Given the description of an element on the screen output the (x, y) to click on. 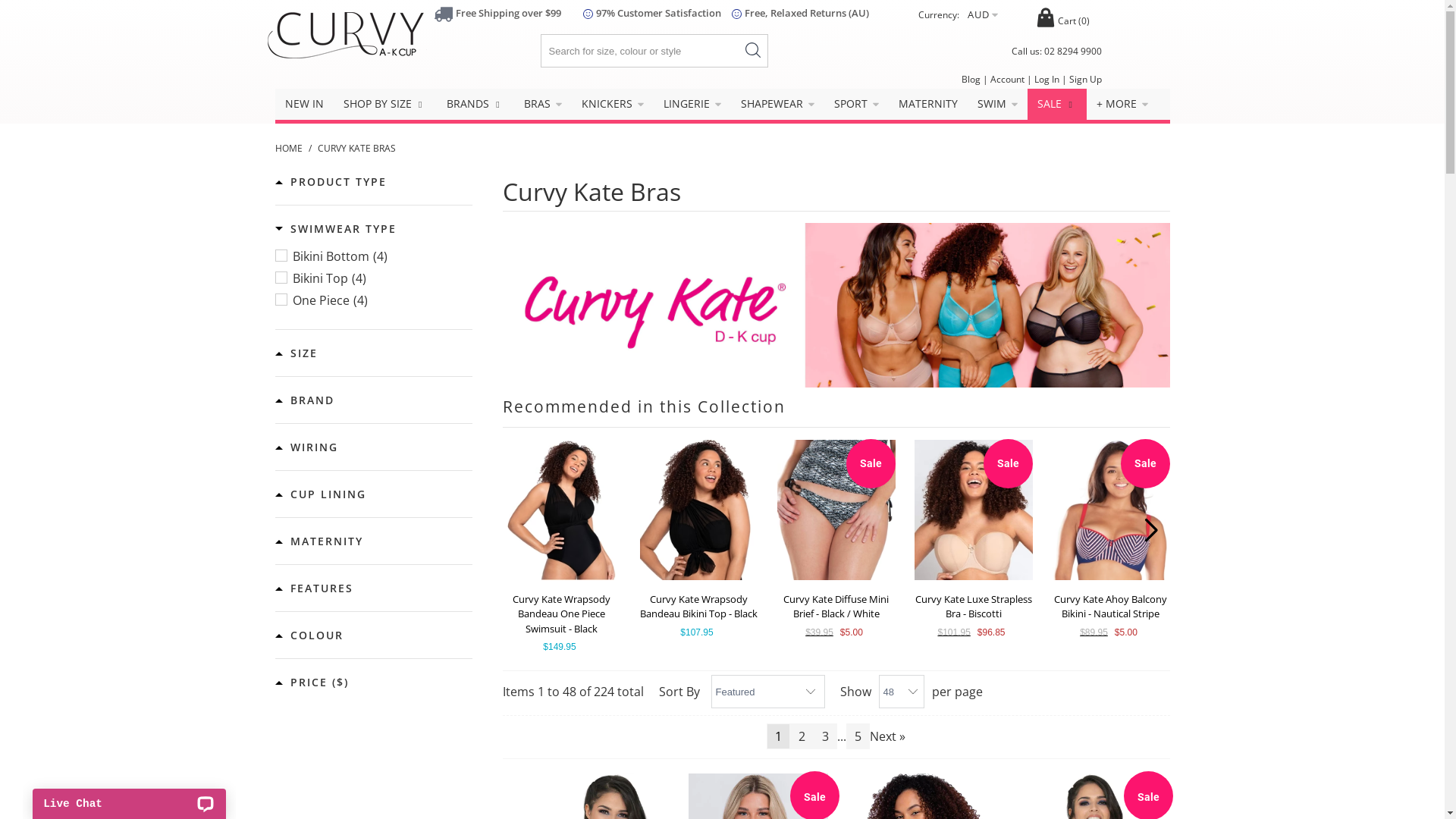
LINGERIE Element type: text (692, 103)
Sign Up Element type: text (1085, 78)
+ MORE Element type: text (1121, 103)
CURVY KATE BRAS Element type: text (355, 147)
2 Element type: text (801, 736)
SWIM Element type: text (997, 103)
Curvy Kate Luxe Strapless Bra - Biscotti
$101.95 $96.85 Element type: text (973, 540)
KNICKERS Element type: text (612, 103)
Curvy Kate Diffuse Mini Brief - Black / White
$39.95 $5.00 Element type: text (835, 540)
SHAPEWEAR Element type: text (777, 103)
on Element type: text (4, 4)
BRAS Element type: text (542, 103)
BRANDS Element type: text (475, 103)
Bikini Top(4) Element type: text (372, 277)
MATERNITY Element type: text (927, 103)
Log In Element type: text (1046, 78)
One Piece(4) Element type: text (372, 299)
Cart (0)   Element type: text (1062, 20)
SALE Element type: text (1056, 103)
Curvy Kate Wrapsody Bandeau Bikini Top - Black
$107.95 Element type: text (699, 540)
Blog Element type: text (970, 78)
5 Element type: text (857, 736)
Bikini Bottom(4) Element type: text (372, 255)
3 Element type: text (825, 736)
SHOP BY SIZE Element type: text (384, 103)
Account Element type: text (1007, 78)
SPORT Element type: text (856, 103)
NEW IN Element type: text (303, 103)
02 8294 9900 Element type: text (1072, 50)
HOME Element type: text (289, 147)
